Given the description of an element on the screen output the (x, y) to click on. 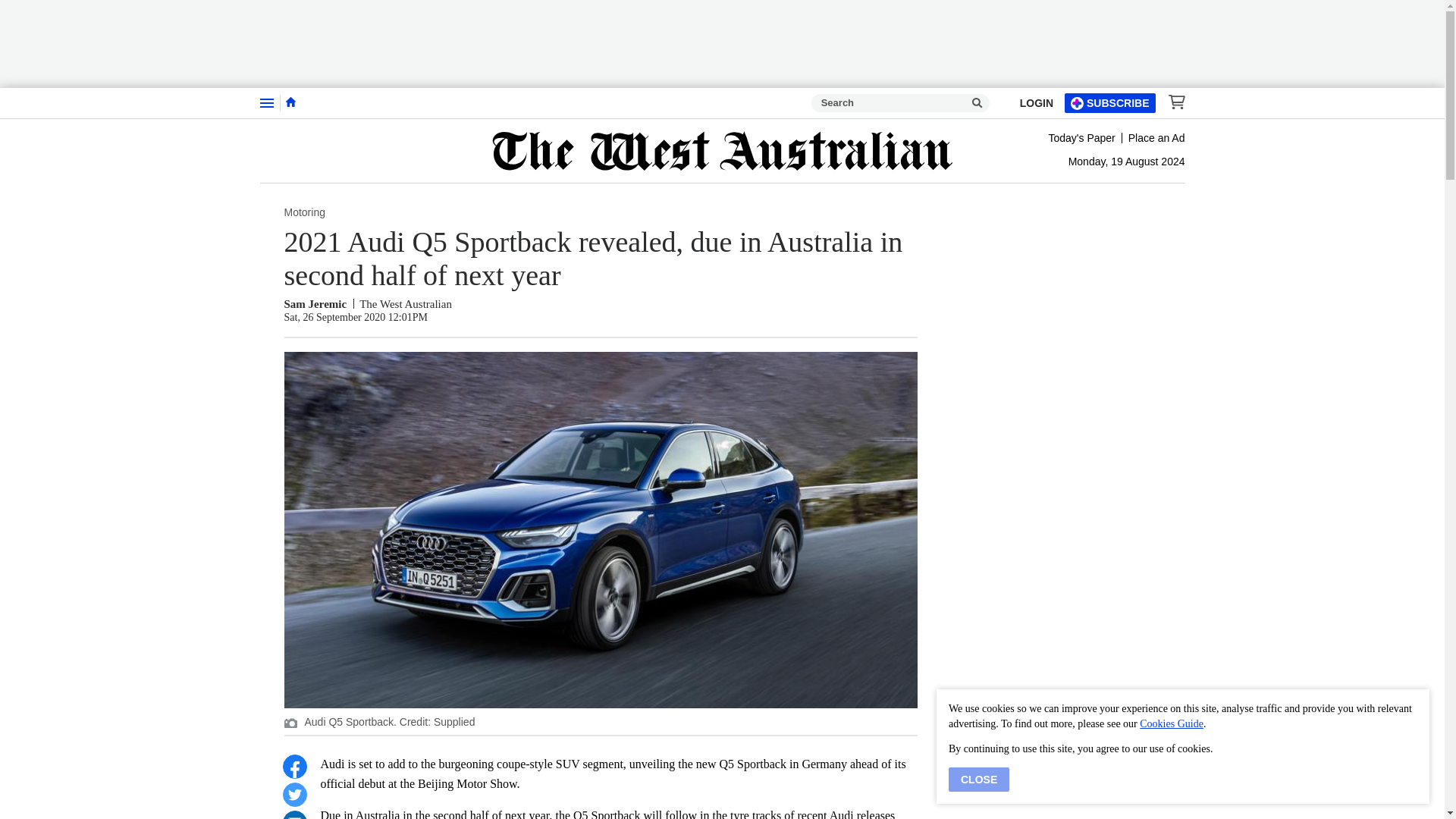
Please enter a search term. (977, 102)
Empty Cart Icon (1172, 102)
Home (290, 102)
